Given the description of an element on the screen output the (x, y) to click on. 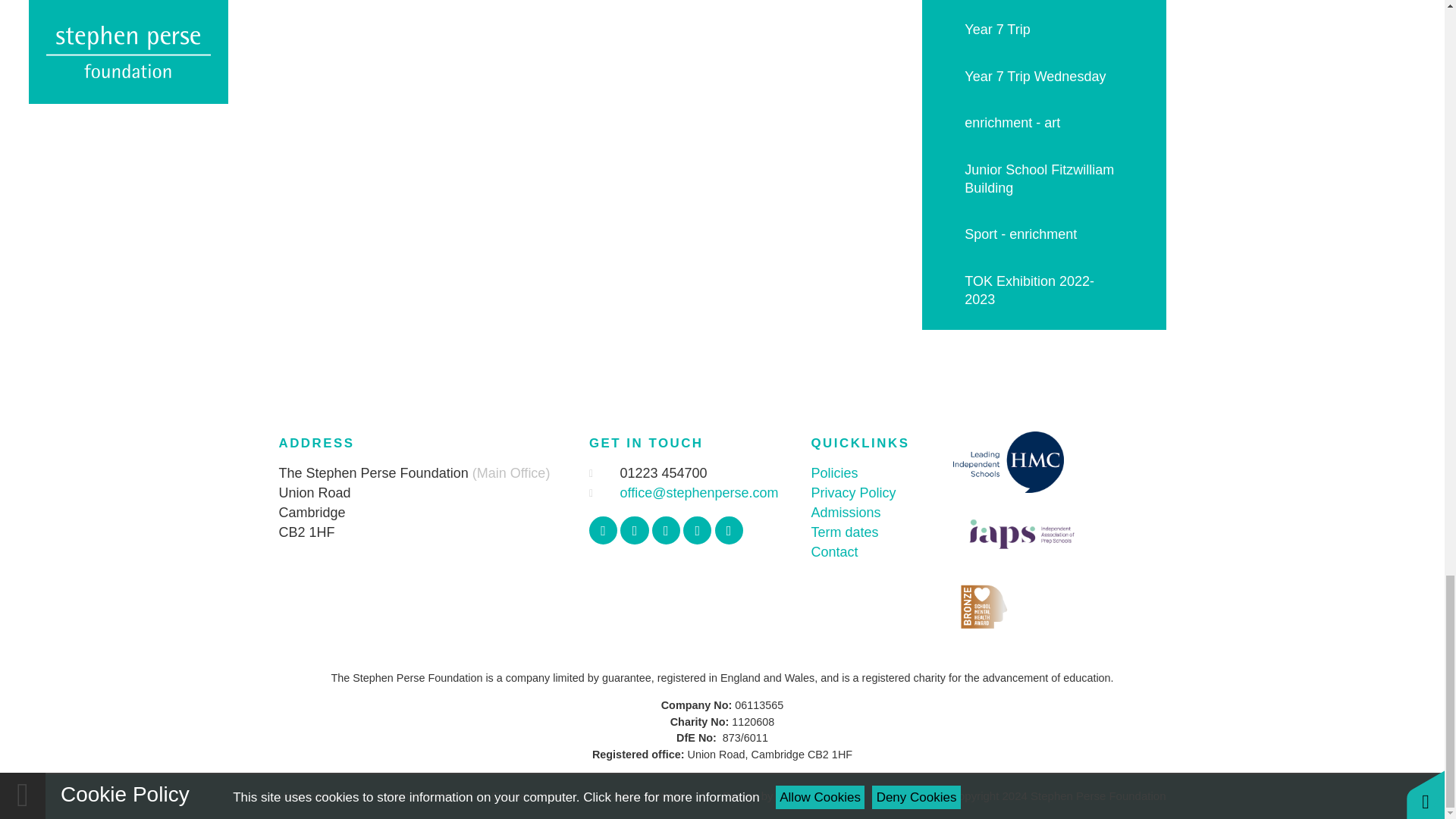
YouTube (696, 530)
Instagram (665, 530)
Cookie Settings (644, 795)
Facebook (603, 530)
Twitter (633, 530)
LinkedIn (728, 530)
